Given the description of an element on the screen output the (x, y) to click on. 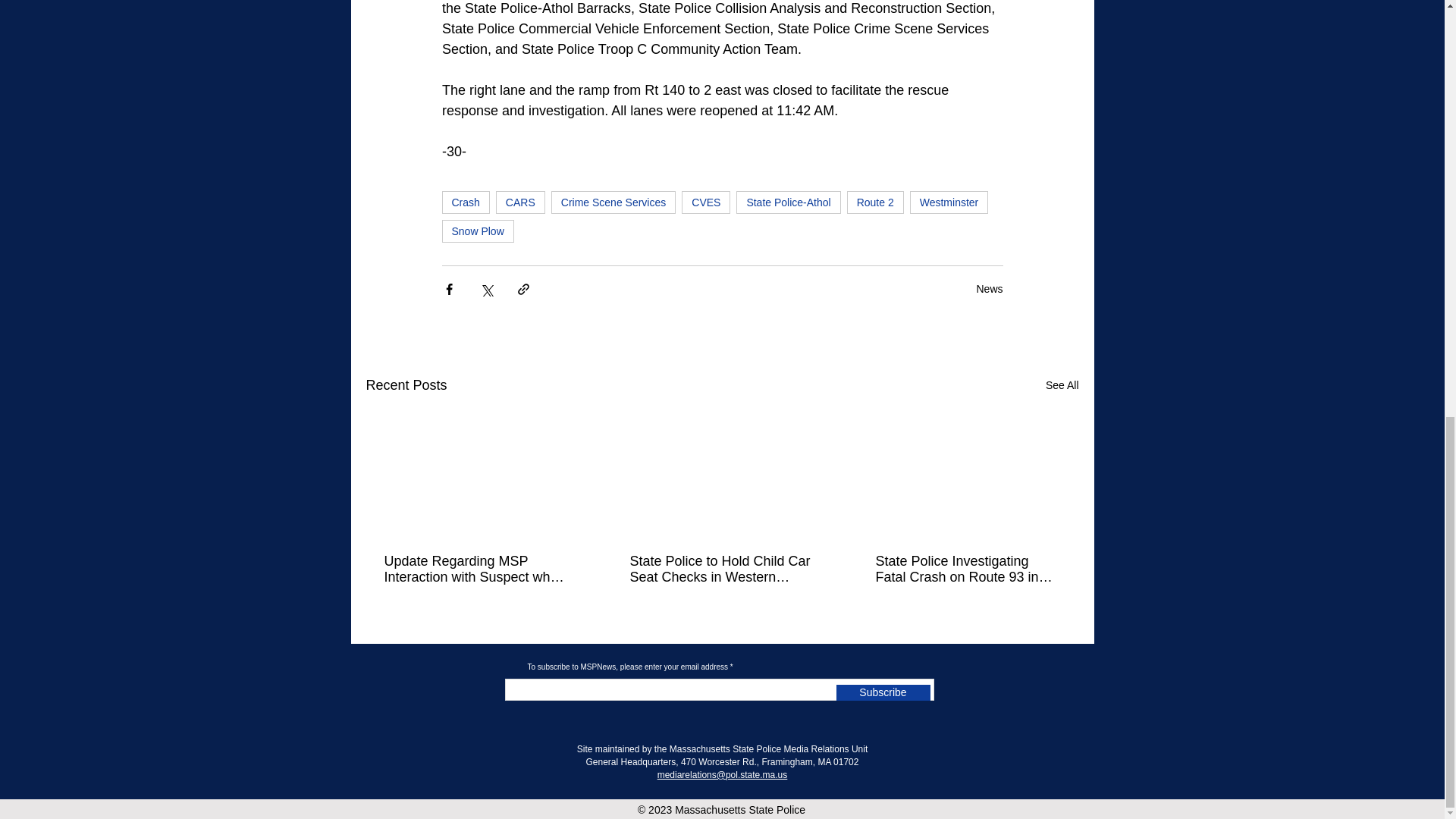
News (989, 287)
Route 2 (875, 201)
State Police Investigating Fatal Crash on Route 93 in Boston (966, 569)
Crash (465, 201)
Crime Scene Services (614, 201)
Westminster (949, 201)
State Police-Athol (788, 201)
CVES (705, 201)
Snow Plow (477, 231)
See All (1061, 385)
Subscribe (882, 692)
CARS (520, 201)
